Given the description of an element on the screen output the (x, y) to click on. 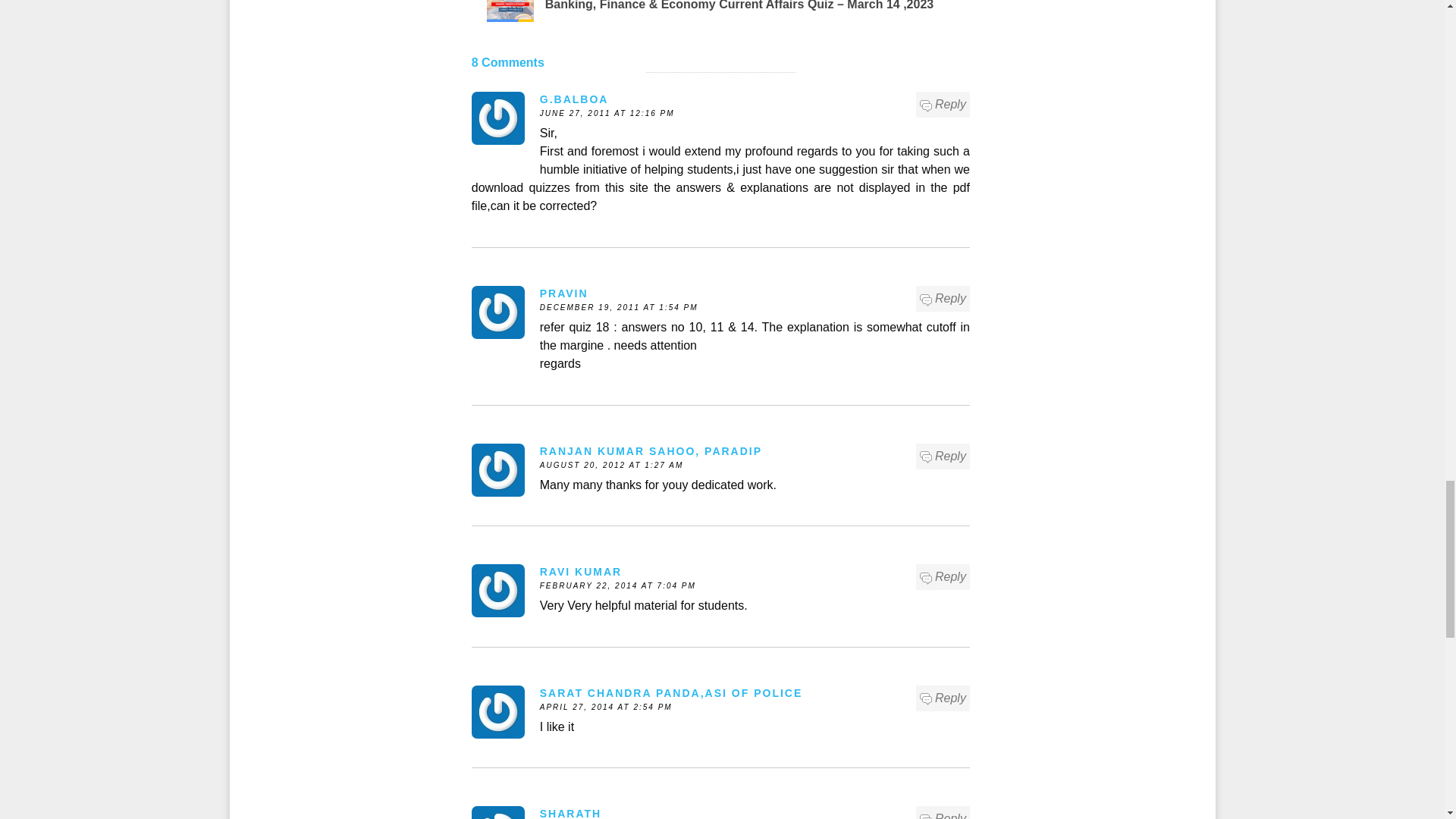
Reply (943, 577)
Reply (943, 298)
Reply (943, 104)
Reply (943, 814)
Reply (943, 456)
Reply (943, 698)
